Given the description of an element on the screen output the (x, y) to click on. 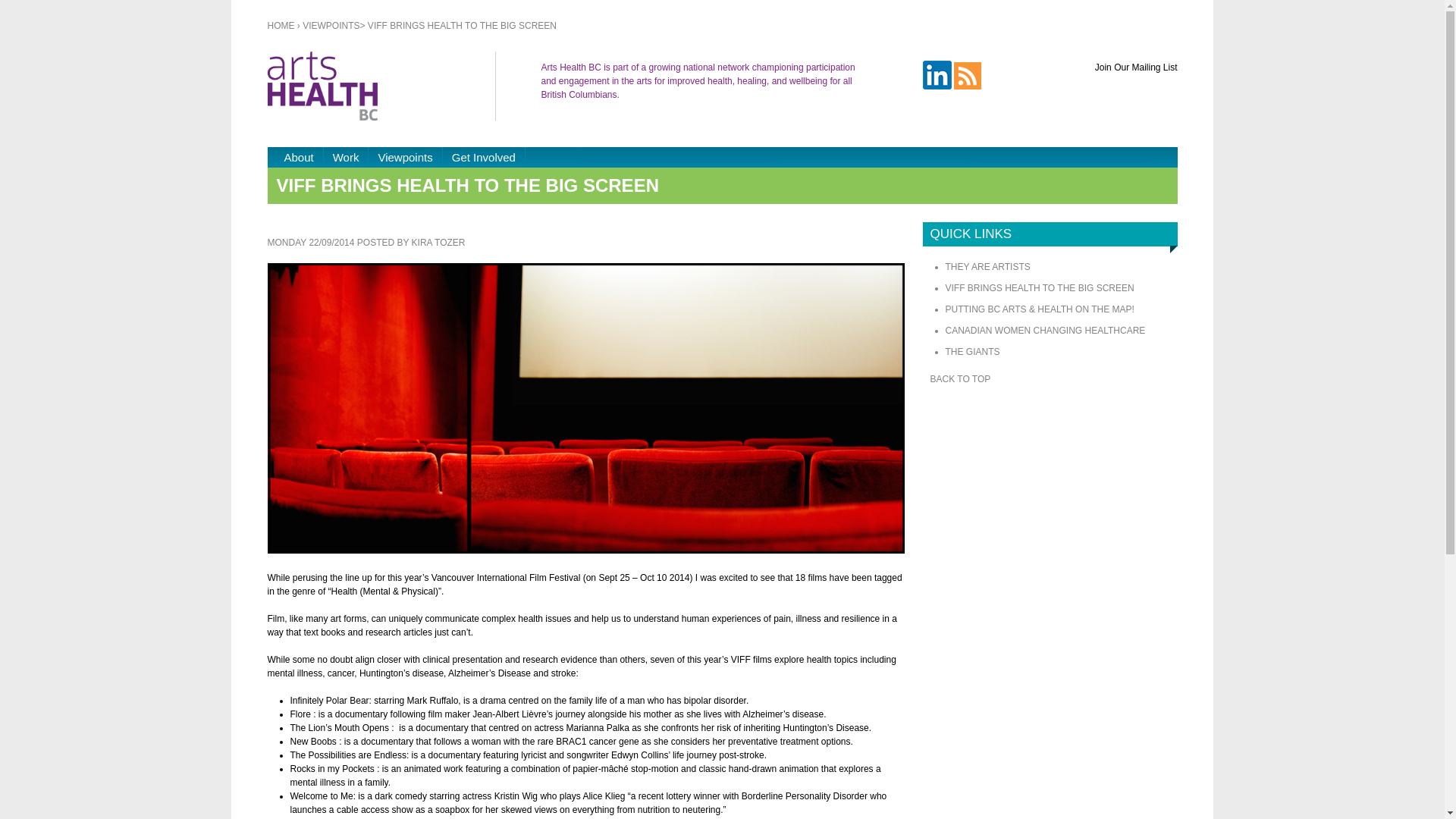
THE GIANTS Element type: text (971, 351)
PUTTING BC ARTS & HEALTH ON THE MAP! Element type: text (1038, 309)
VIEWPOINTS Element type: text (330, 25)
BACK TO TOP Element type: text (959, 378)
Get Involved Element type: text (483, 157)
Viewpoints Element type: text (405, 157)
THEY ARE ARTISTS Element type: text (986, 266)
VIFF BRINGS HEALTH TO THE BIG SCREEN Element type: text (1038, 287)
About Element type: text (298, 157)
CANADIAN WOMEN CHANGING HEALTHCARE Element type: text (1044, 330)
Jump to navigation Element type: text (722, 2)
Home Element type: hover (380, 85)
Work Element type: text (346, 157)
HOME Element type: text (281, 25)
